Given the description of an element on the screen output the (x, y) to click on. 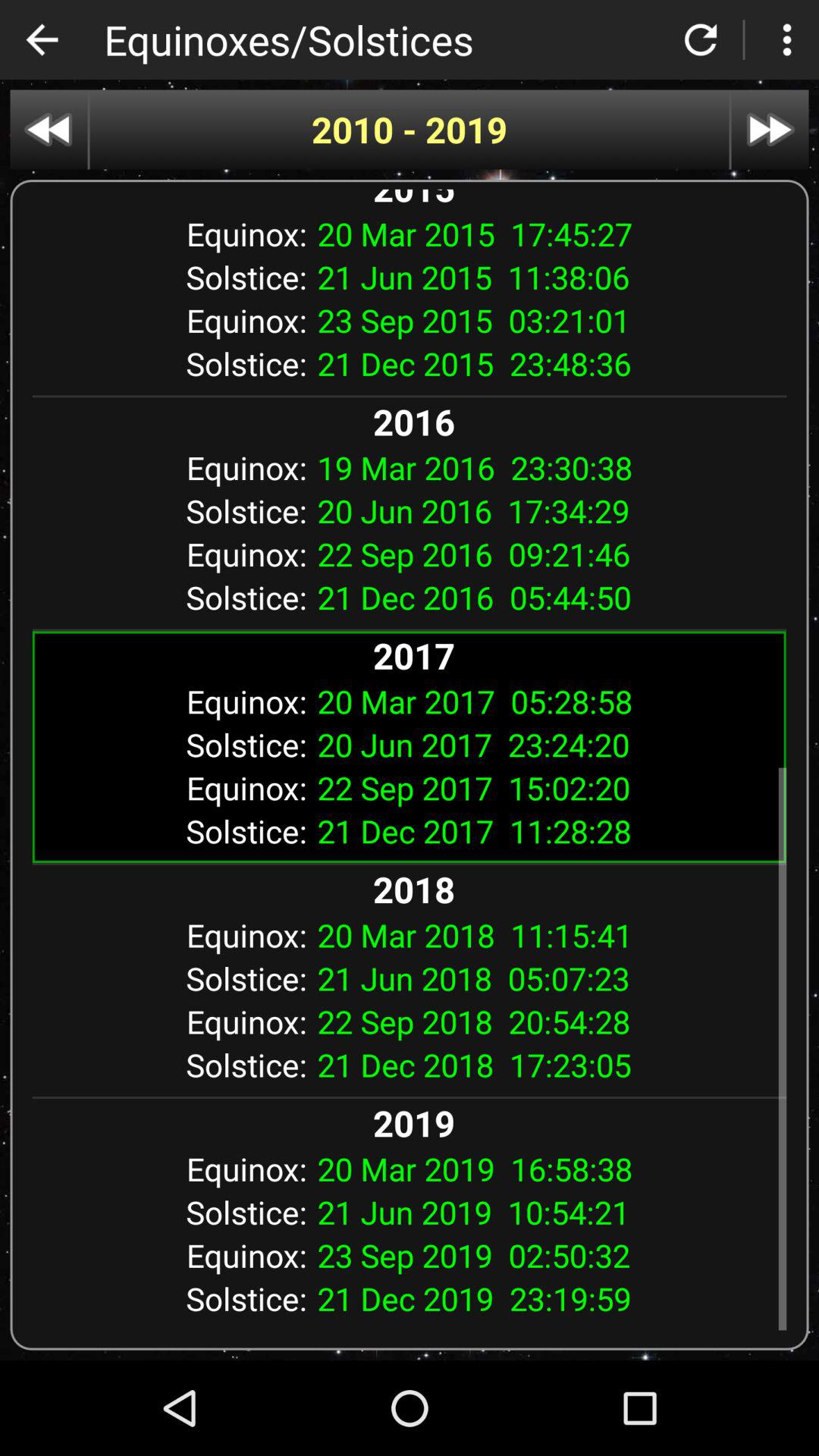
select the app to the right of equinox: item (546, 467)
